Given the description of an element on the screen output the (x, y) to click on. 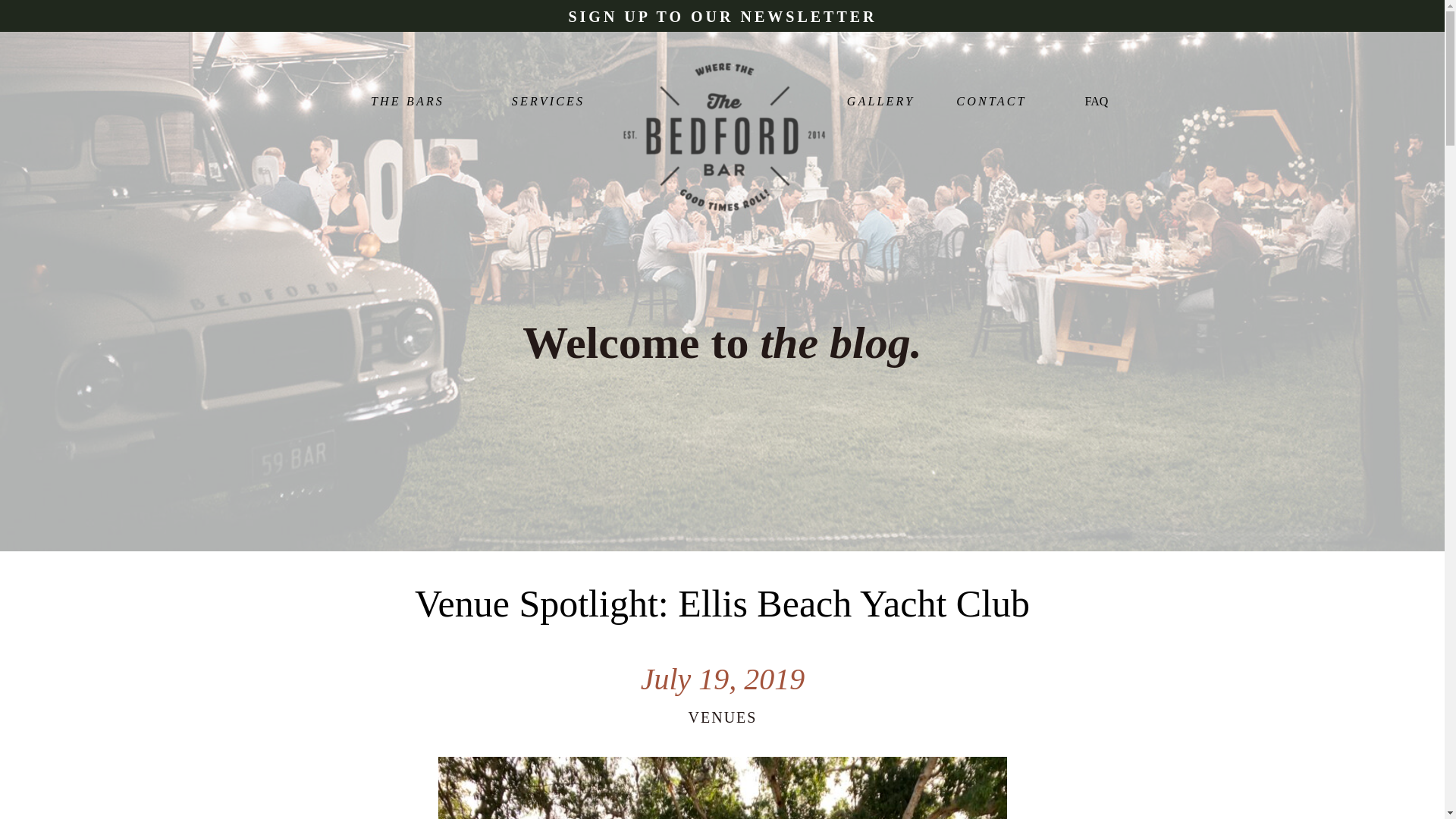
FAQ (1095, 101)
CONTACT (990, 101)
THE BARS (407, 101)
SIGN UP TO OUR NEWSLETTER (722, 16)
GALLERY (879, 101)
SERVICES (548, 101)
VENUES (722, 717)
